Given the description of an element on the screen output the (x, y) to click on. 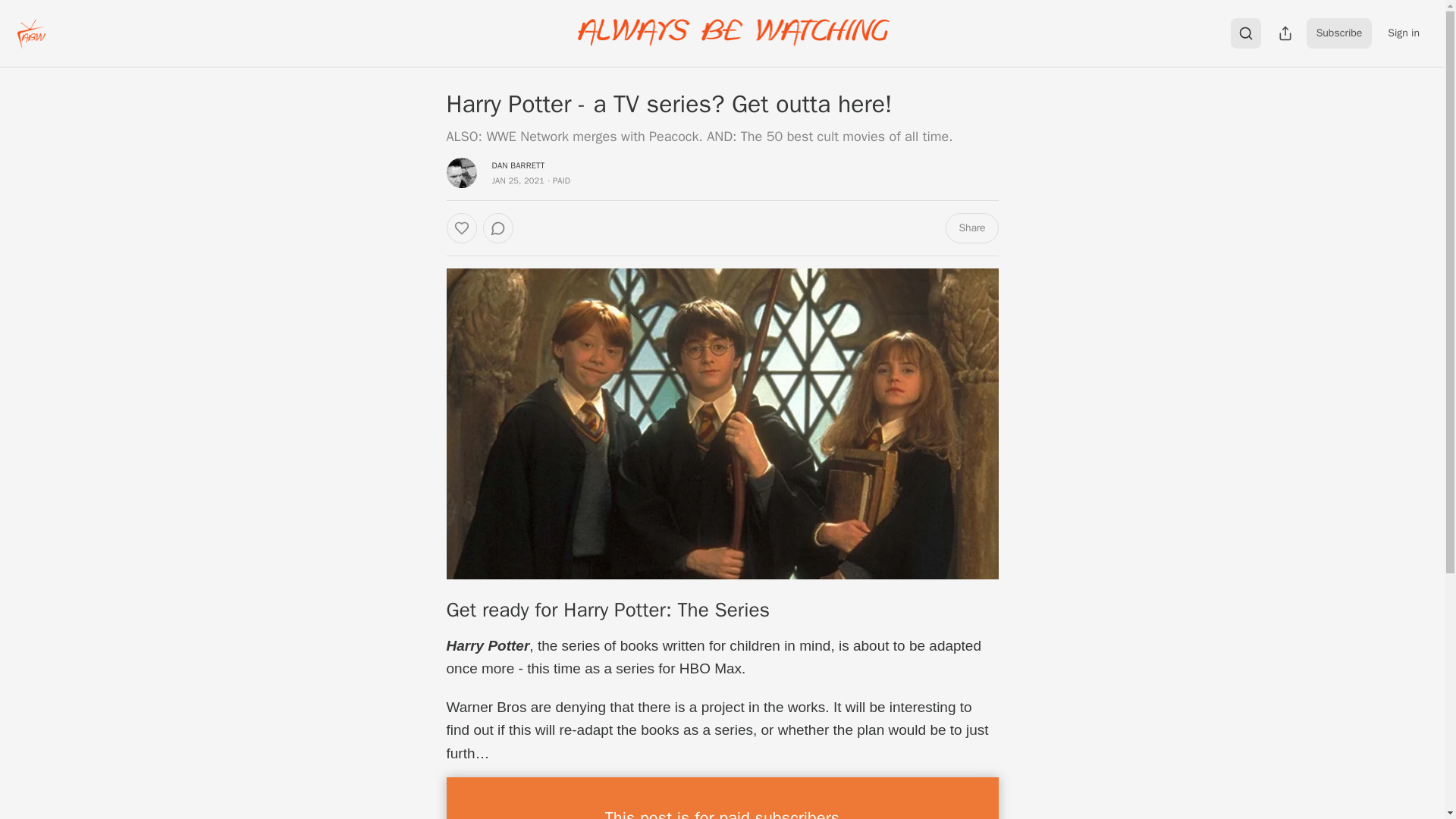
DAN BARRETT (518, 164)
Sign in (1403, 33)
Subscribe (1339, 33)
Share (970, 227)
